Given the description of an element on the screen output the (x, y) to click on. 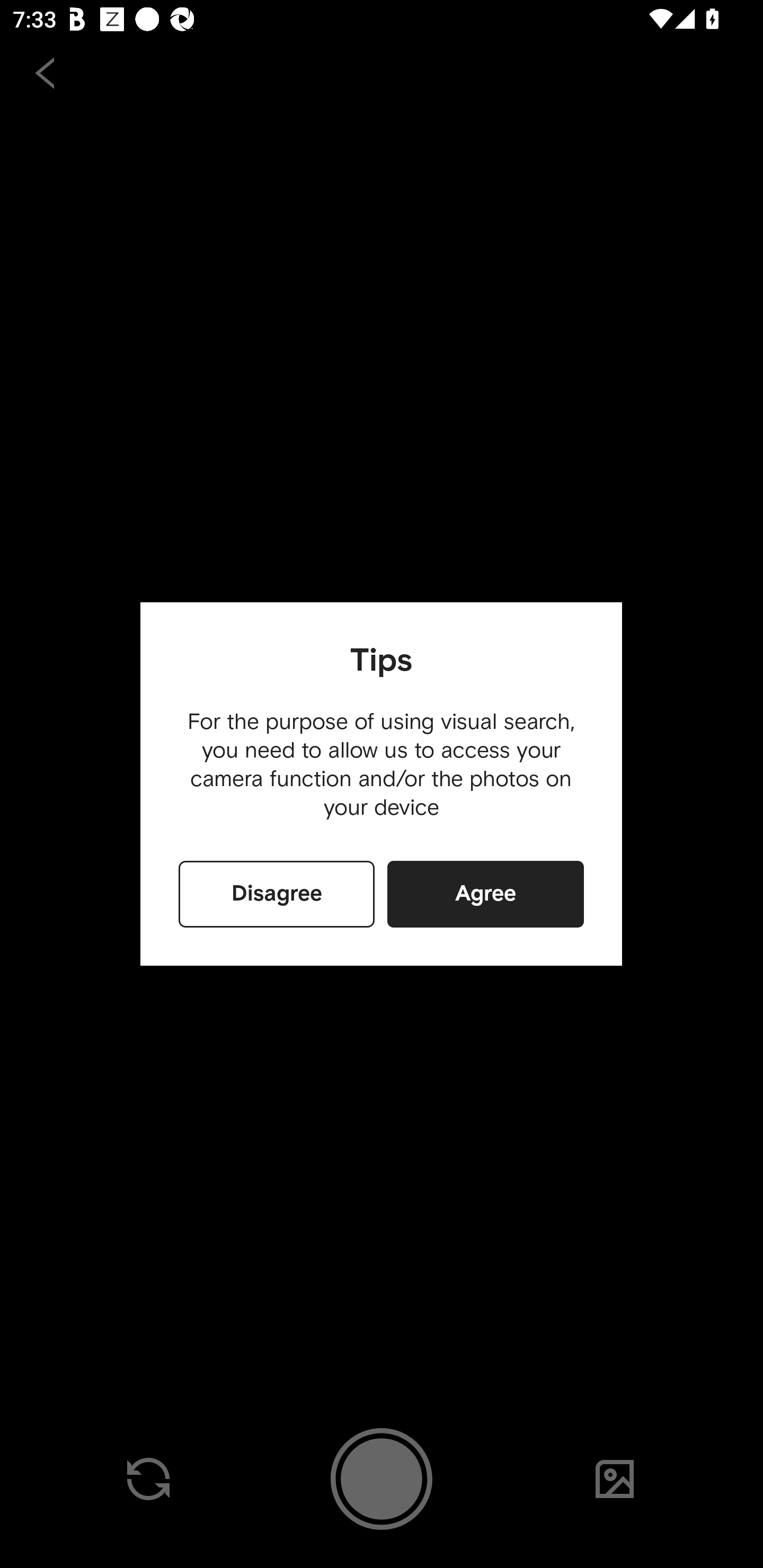
Disagree (276, 894)
Agree (485, 894)
